Given the description of an element on the screen output the (x, y) to click on. 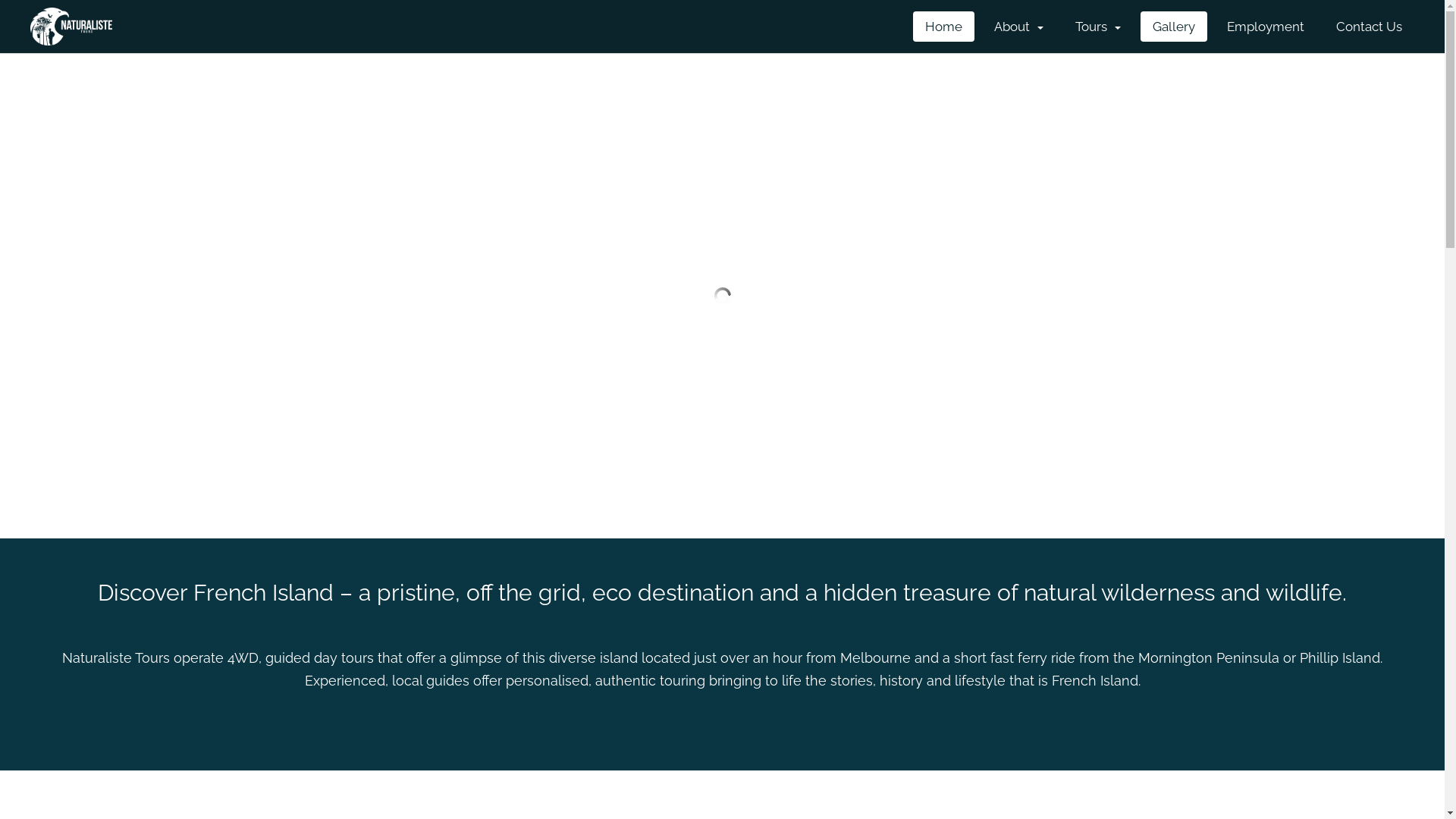
Contact Us Element type: text (1369, 26)
Tours Element type: text (1097, 26)
Employment Element type: text (1265, 26)
About Element type: text (1018, 26)
Gallery Element type: text (1173, 26)
Home Element type: text (943, 26)
